Given the description of an element on the screen output the (x, y) to click on. 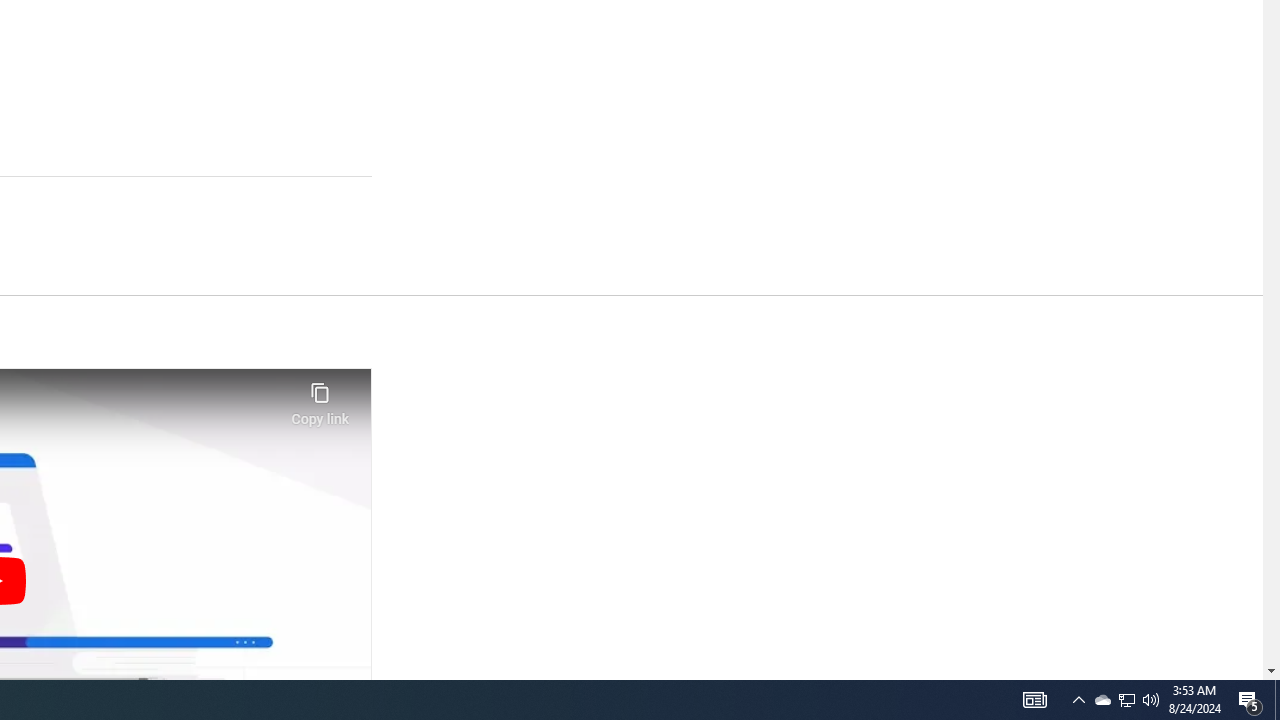
Copy link (319, 398)
